Given the description of an element on the screen output the (x, y) to click on. 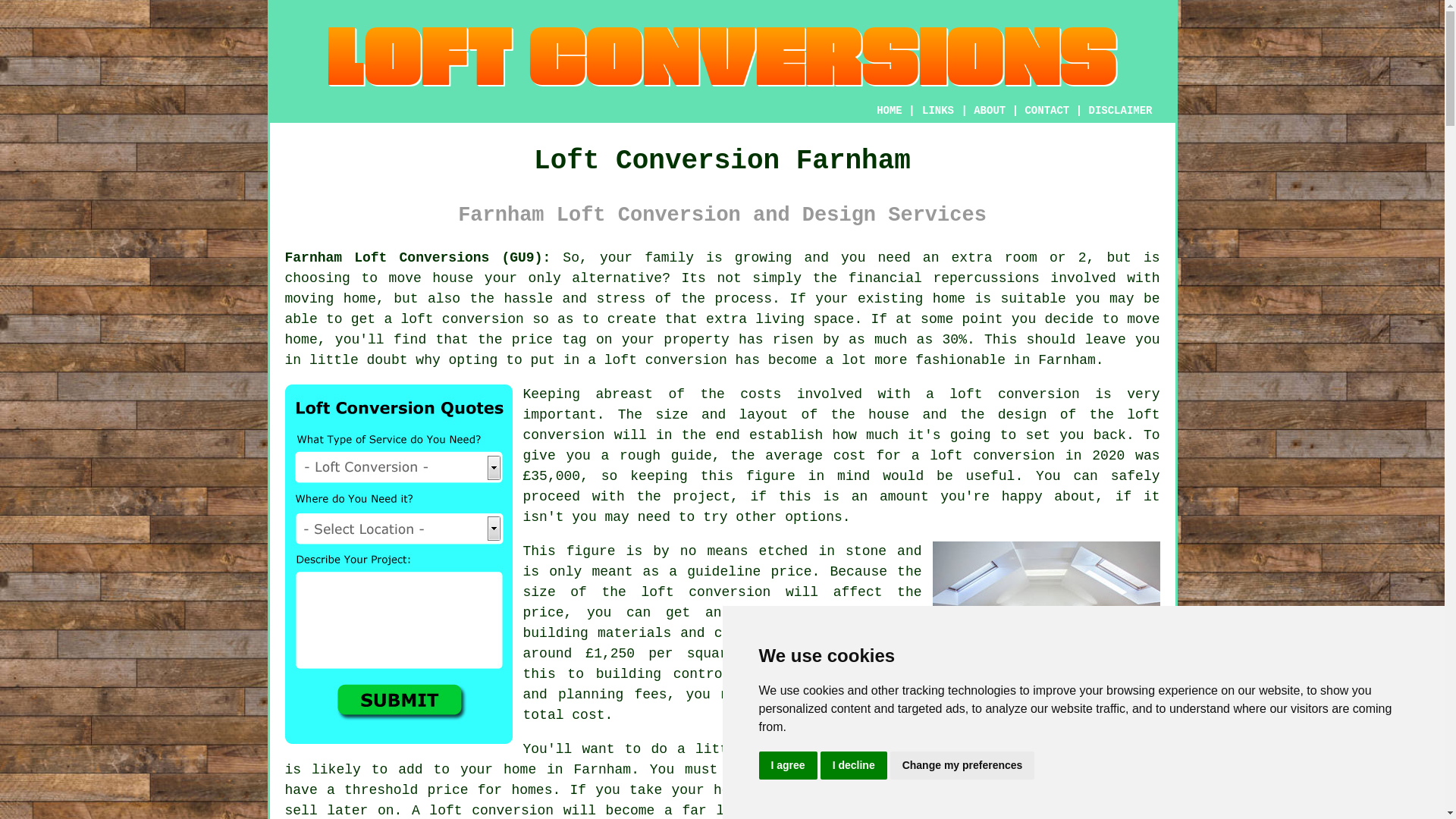
Change my preferences (962, 765)
I decline (853, 765)
I agree (787, 765)
Loft Conversion Farnham (721, 56)
HOME (889, 110)
Loft Conversions Farnham (1046, 615)
LINKS (938, 110)
